Given the description of an element on the screen output the (x, y) to click on. 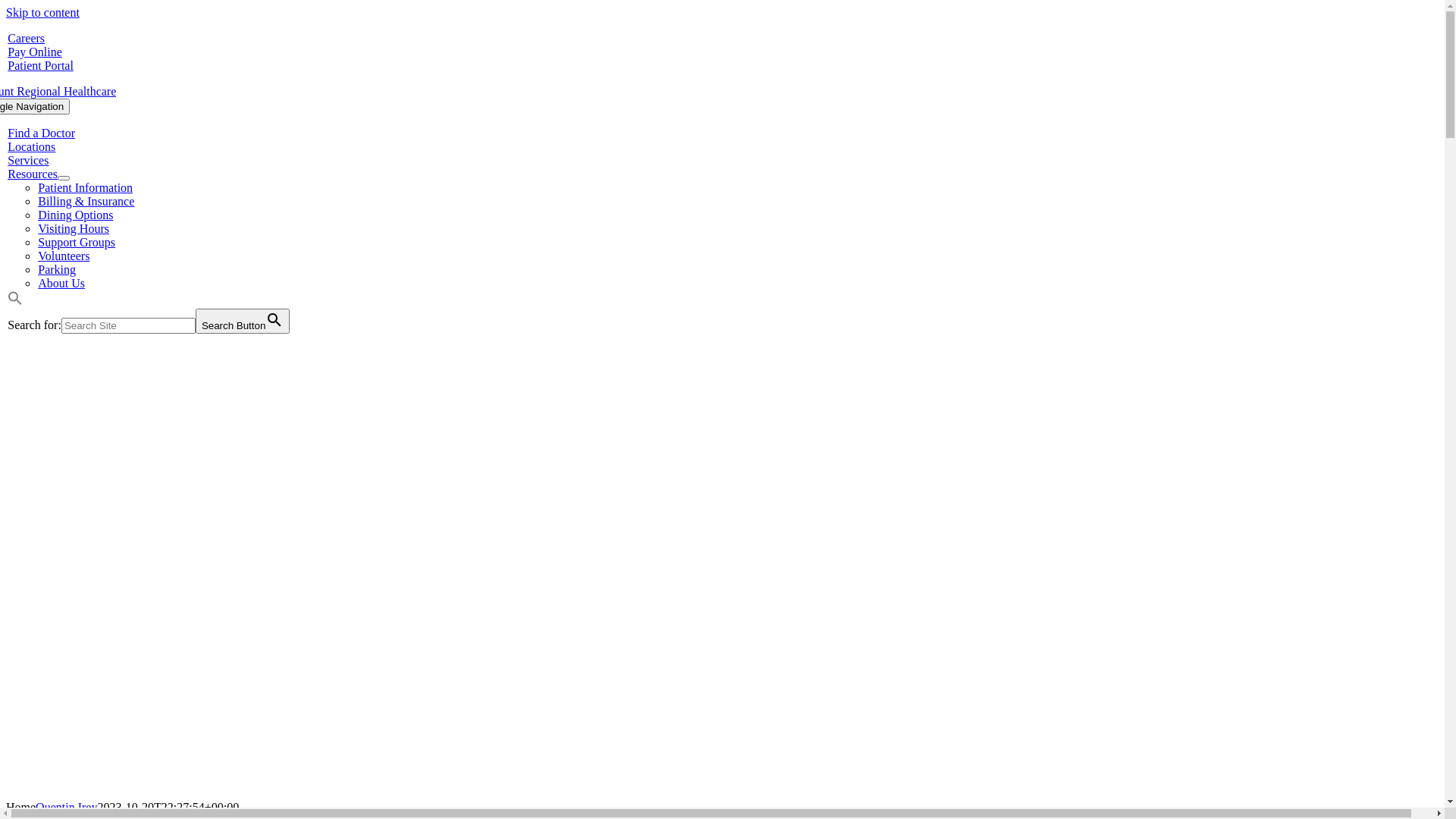
Patient Portal Element type: text (40, 65)
Skip to content Element type: text (42, 12)
Support Groups Element type: text (76, 241)
Volunteers Element type: text (63, 255)
Dining Options Element type: text (74, 214)
Visiting Hours Element type: text (73, 228)
Patient Information Element type: text (84, 187)
About Us Element type: text (60, 282)
Services Element type: text (27, 159)
Pay Online Element type: text (34, 51)
Search Button Element type: text (242, 320)
Quentin Irey Element type: text (66, 806)
Locations Element type: text (31, 146)
Resources Element type: text (32, 173)
Careers Element type: text (25, 37)
Parking Element type: text (56, 269)
Billing & Insurance Element type: text (85, 200)
Find a Doctor Element type: text (41, 132)
